Given the description of an element on the screen output the (x, y) to click on. 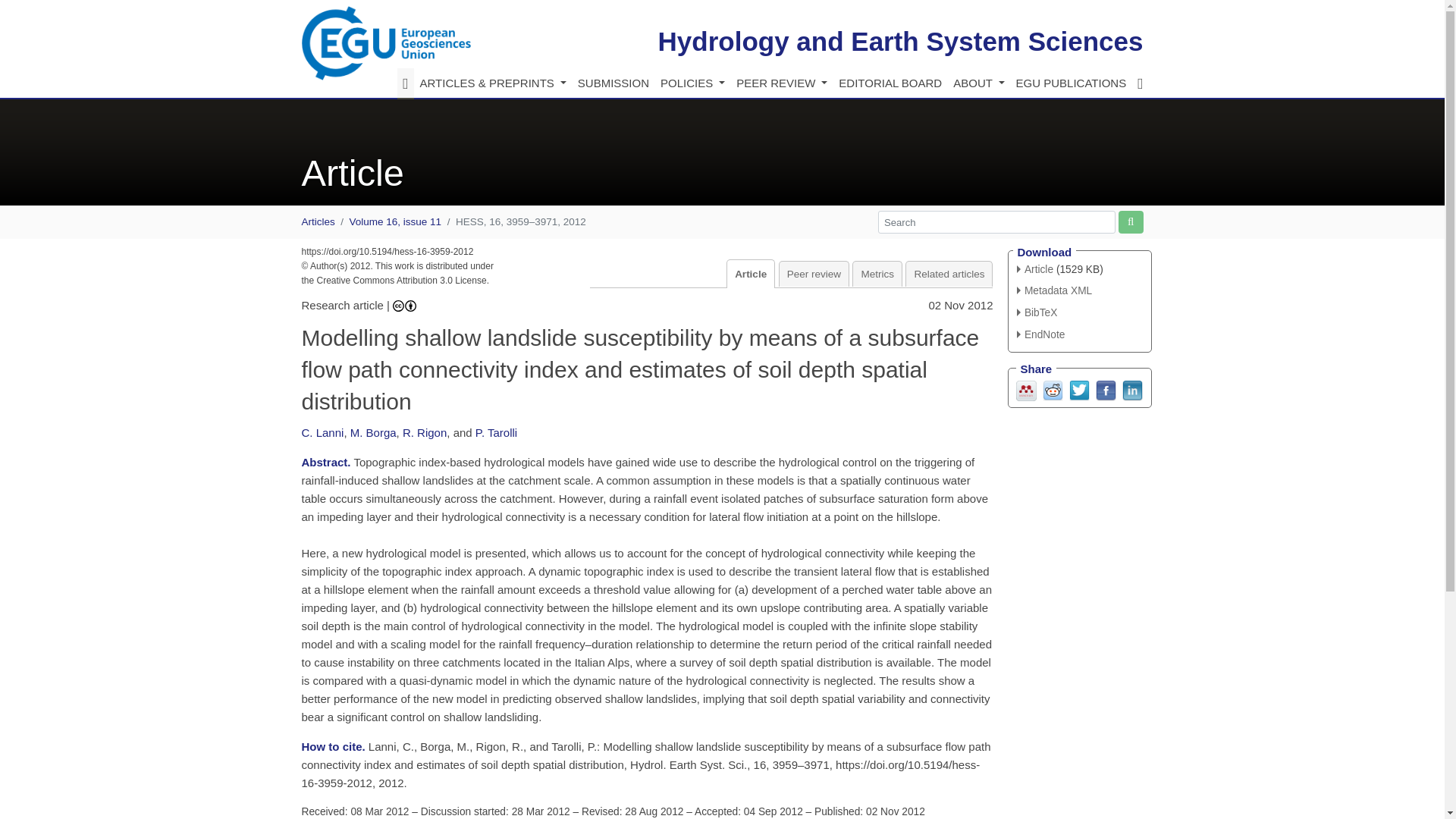
POLICIES (691, 83)
PEER REVIEW (781, 83)
Facebook (1104, 389)
Twitter (1078, 389)
Mendeley (1026, 389)
XML Version (1054, 290)
Hydrology and Earth System Sciences (900, 41)
Start site search (1130, 221)
SUBMISSION (612, 83)
Reddit (1052, 389)
